Given the description of an element on the screen output the (x, y) to click on. 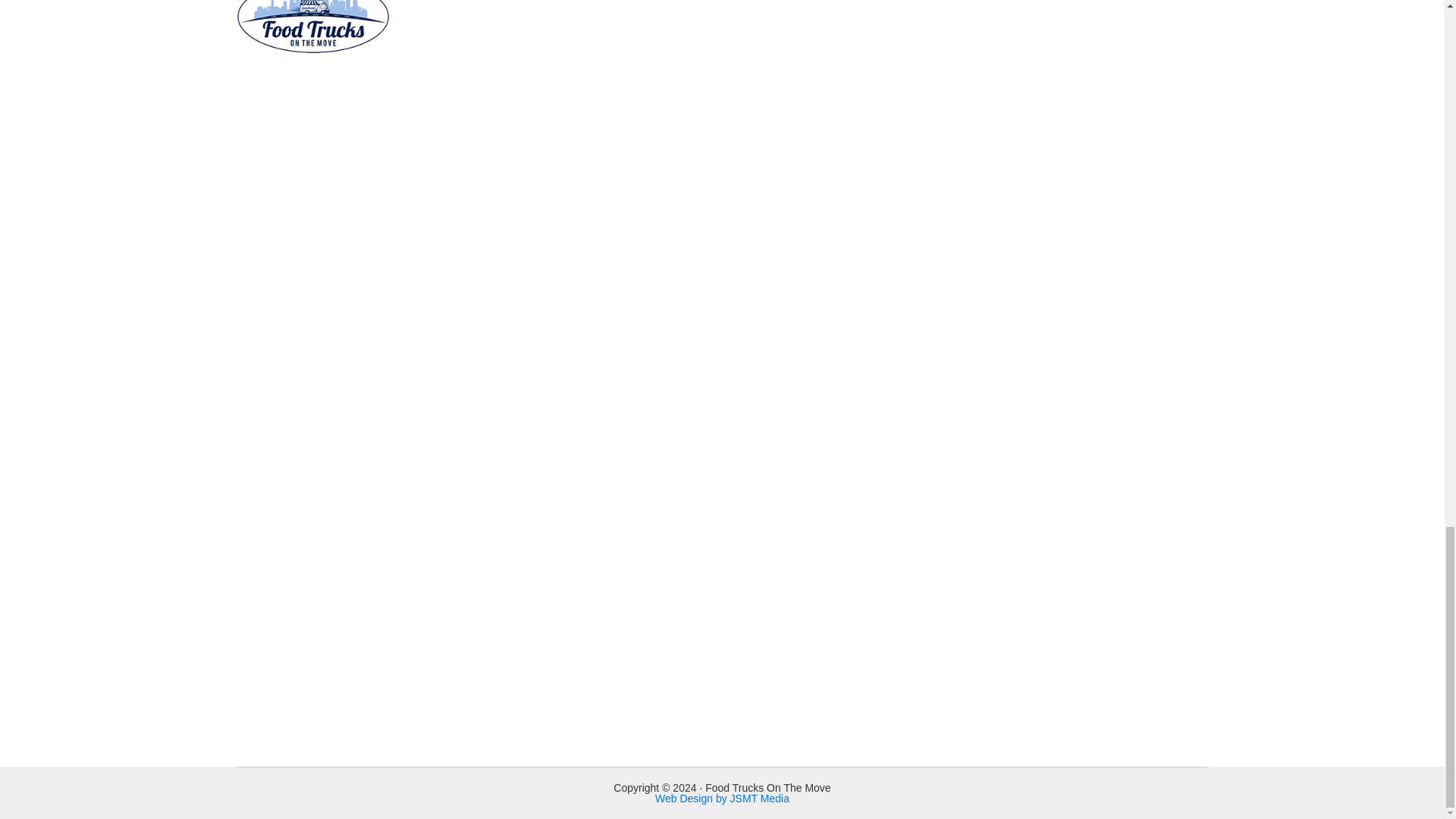
Web Design by JSMT Media (722, 798)
